Given the description of an element on the screen output the (x, y) to click on. 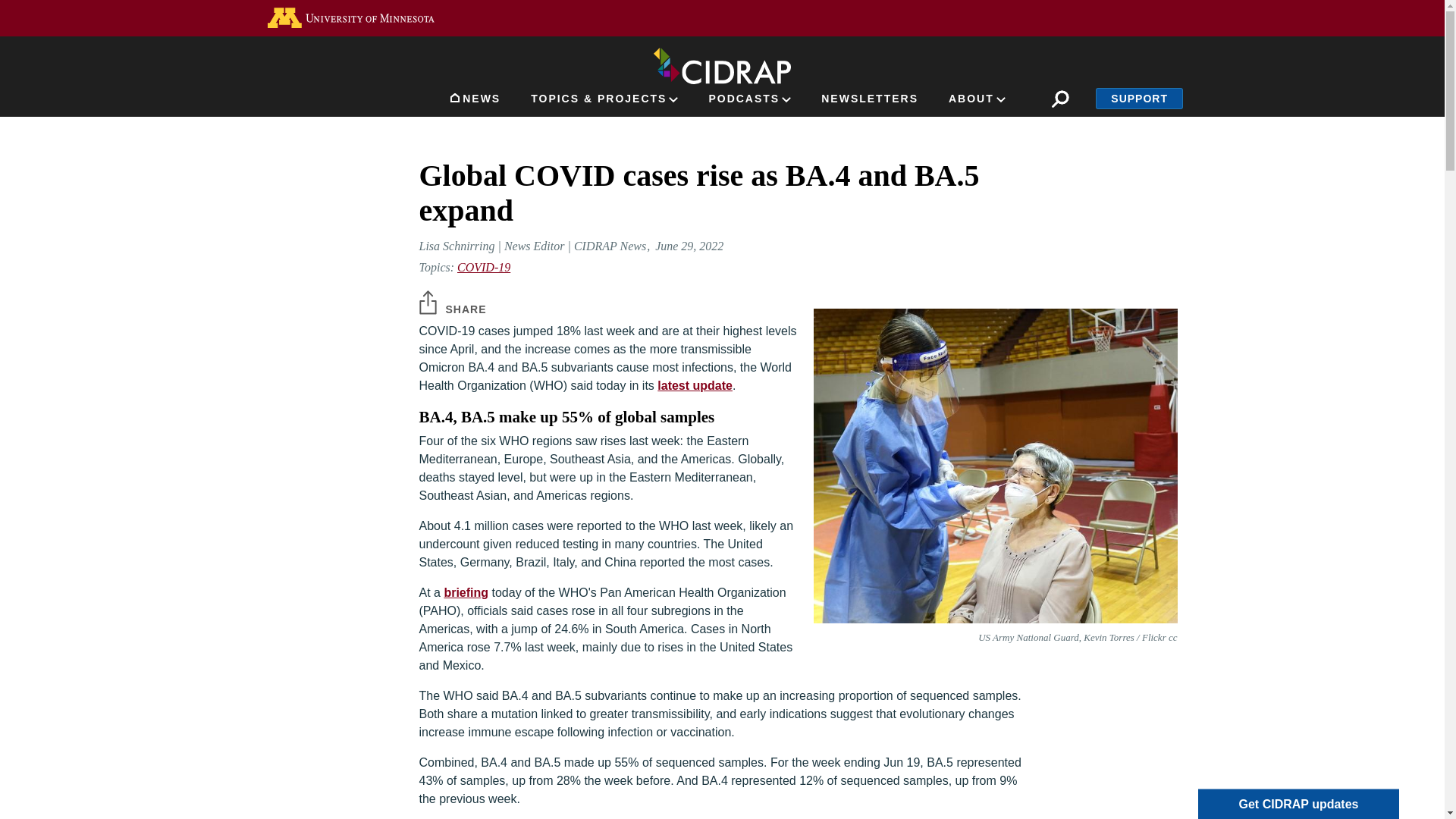
NEWS (474, 102)
Home (721, 62)
